Given the description of an element on the screen output the (x, y) to click on. 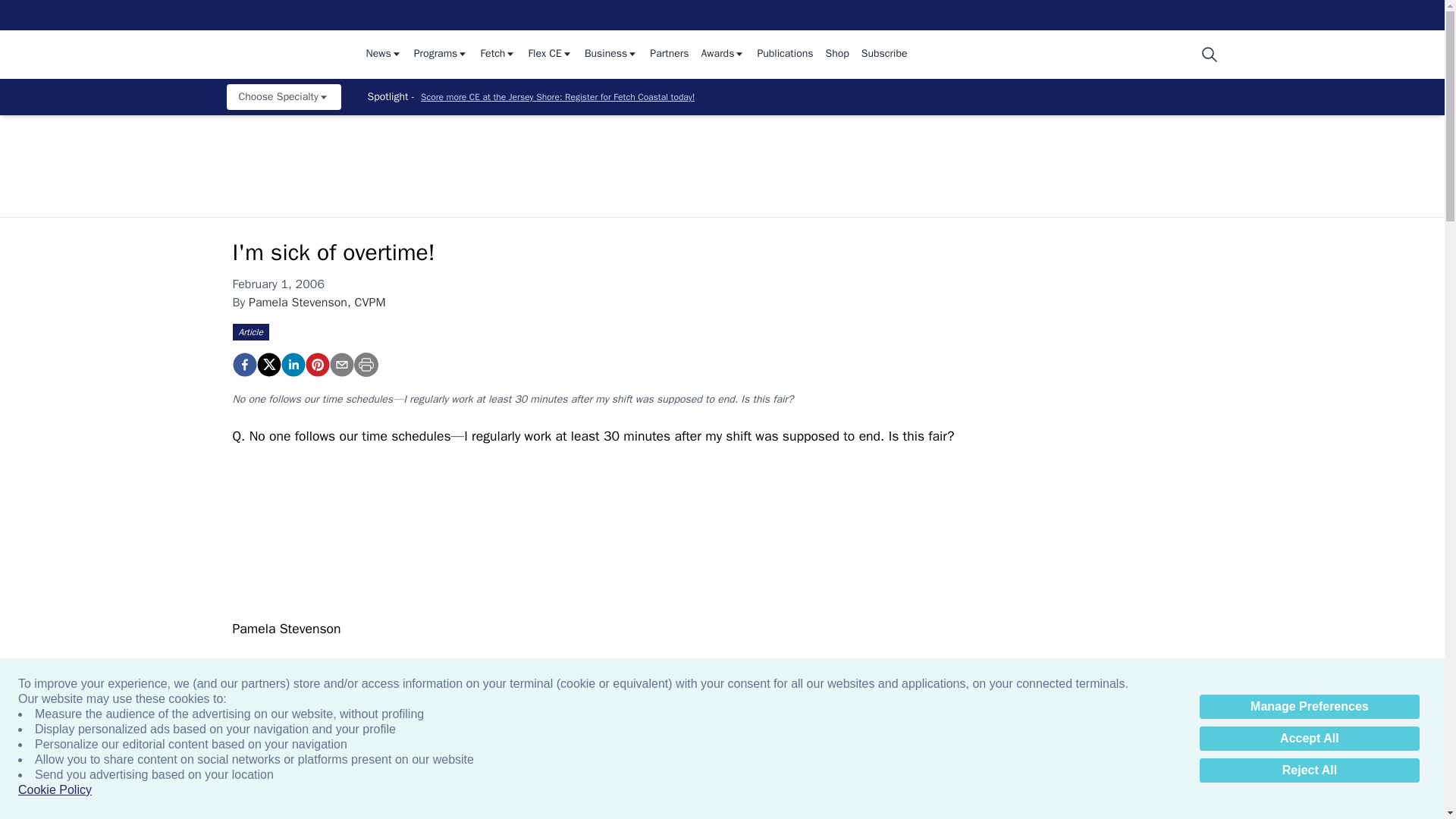
I'm sick of overtime! (243, 364)
Cookie Policy (54, 789)
Manage Preferences (1309, 706)
Programs (440, 54)
I'm sick of overtime! (316, 364)
Business (611, 54)
Accept All (1309, 738)
Reject All (1309, 769)
Flex CE (549, 54)
Fetch (497, 54)
